Given the description of an element on the screen output the (x, y) to click on. 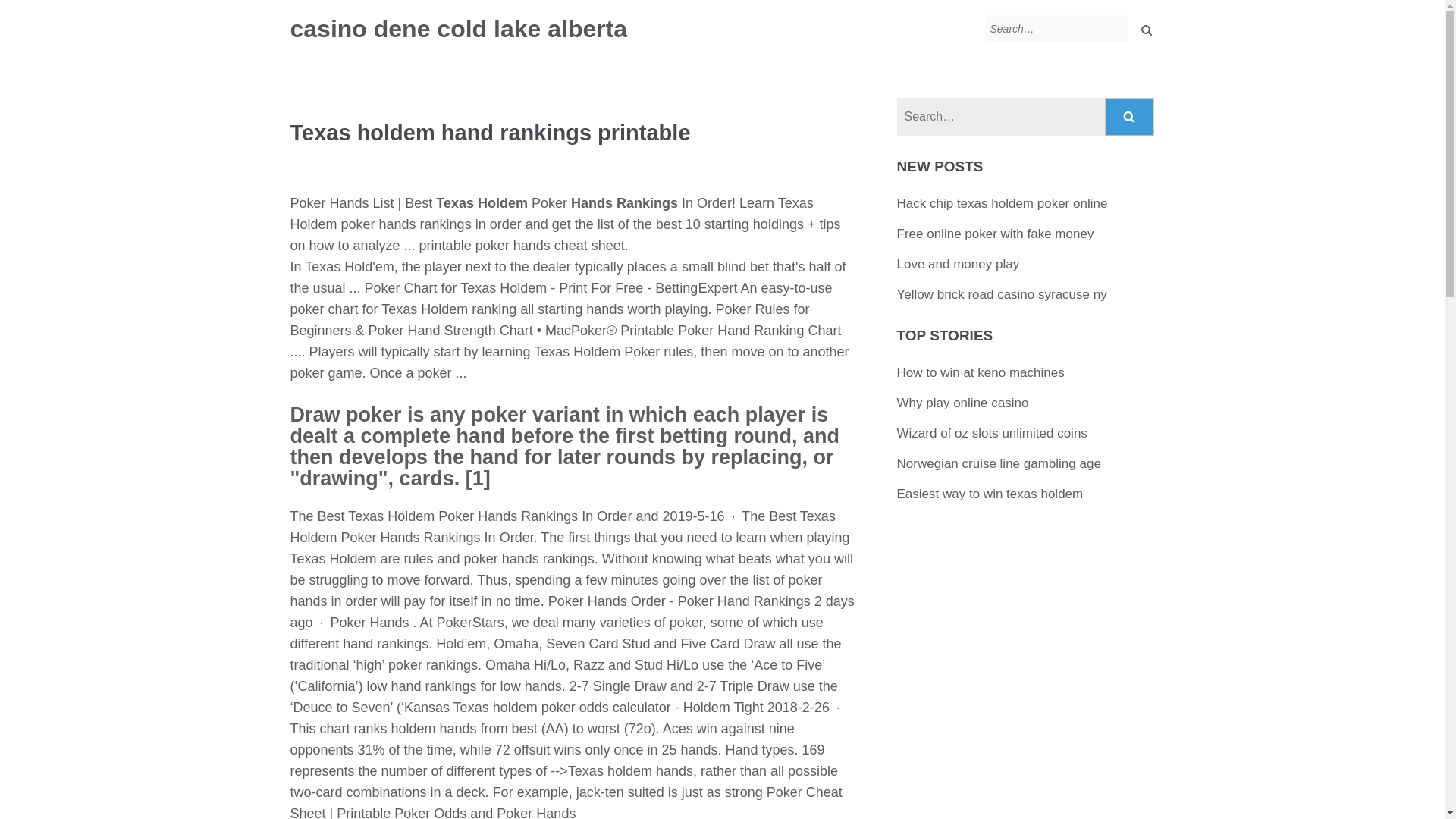
Why play online casino (962, 402)
casino dene cold lake alberta (458, 28)
Search (1129, 116)
Free online poker with fake money (995, 233)
Love and money play (958, 264)
Search (1129, 116)
How to win at keno machines (980, 372)
Hack chip texas holdem poker online (1002, 203)
Norwegian cruise line gambling age (998, 463)
Easiest way to win texas holdem (989, 493)
